Given the description of an element on the screen output the (x, y) to click on. 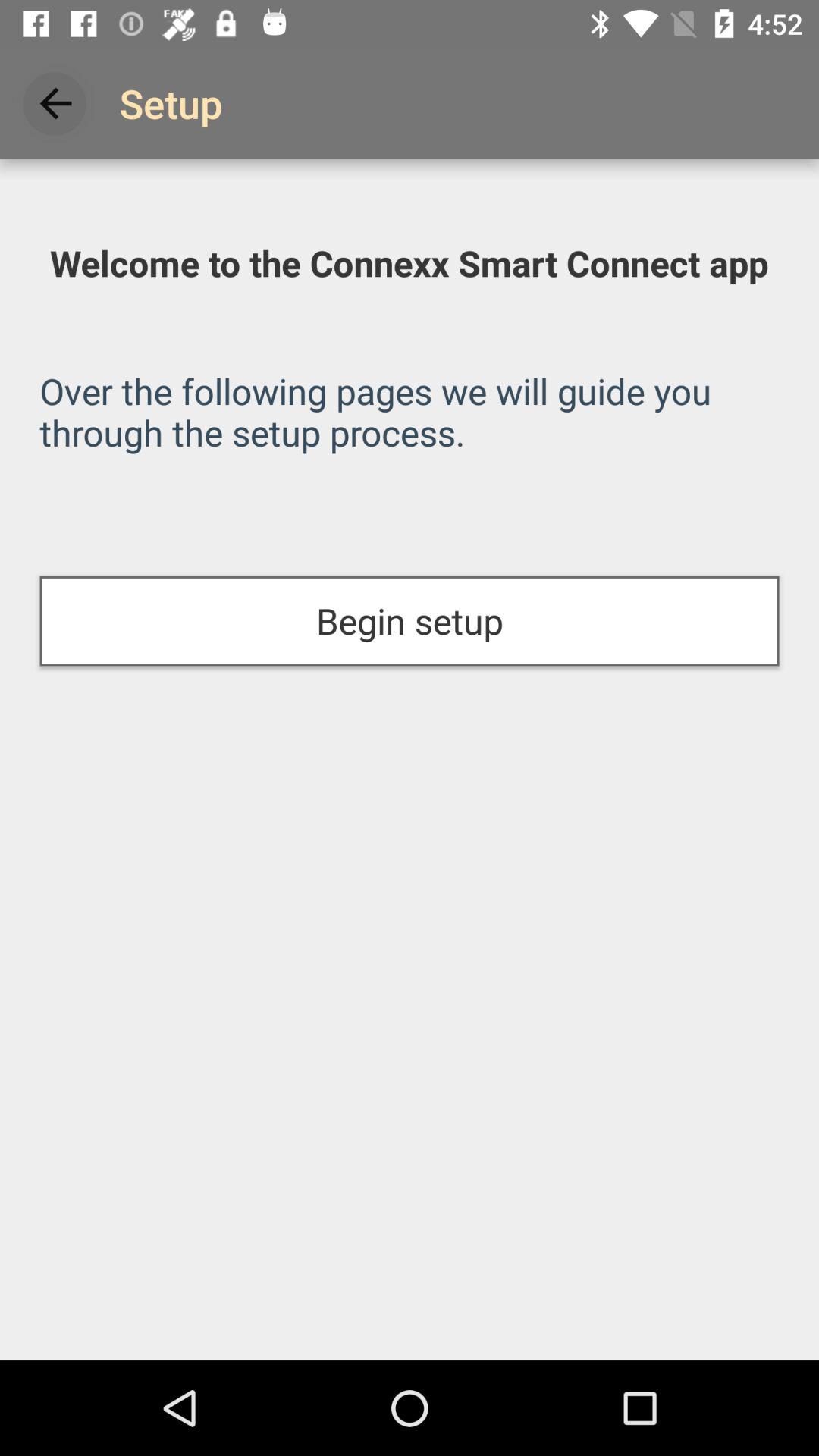
click icon above the welcome to the (55, 103)
